Given the description of an element on the screen output the (x, y) to click on. 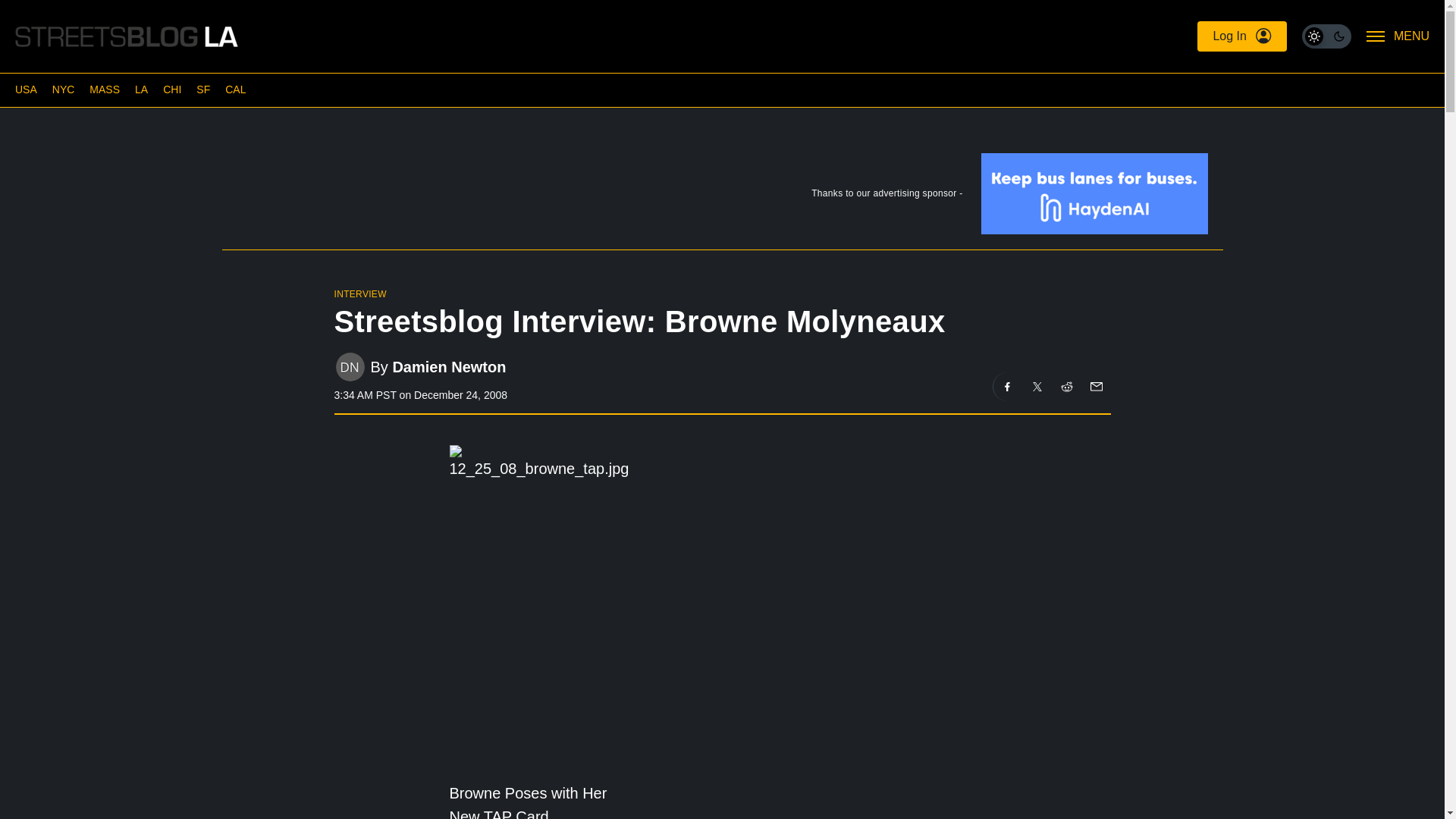
Share on Facebook (1007, 386)
Thanks to our advertising sponsor - (721, 196)
CHI (171, 89)
INTERVIEW (359, 294)
MENU (1398, 36)
Log In (1240, 36)
CAL (235, 89)
NYC (63, 89)
MASS (103, 89)
USA (25, 89)
